Given the description of an element on the screen output the (x, y) to click on. 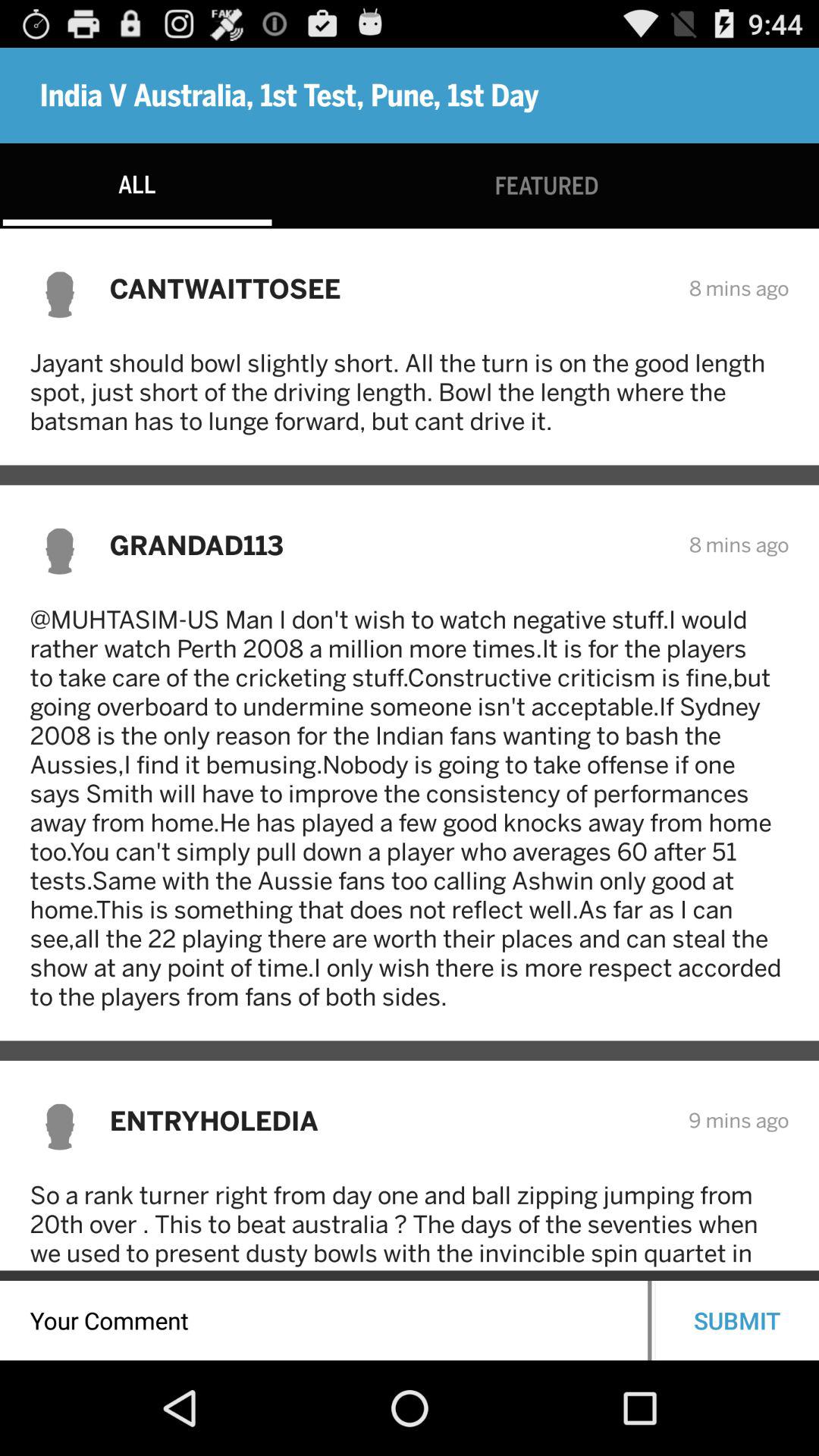
open icon below the india v australia icon (546, 185)
